Given the description of an element on the screen output the (x, y) to click on. 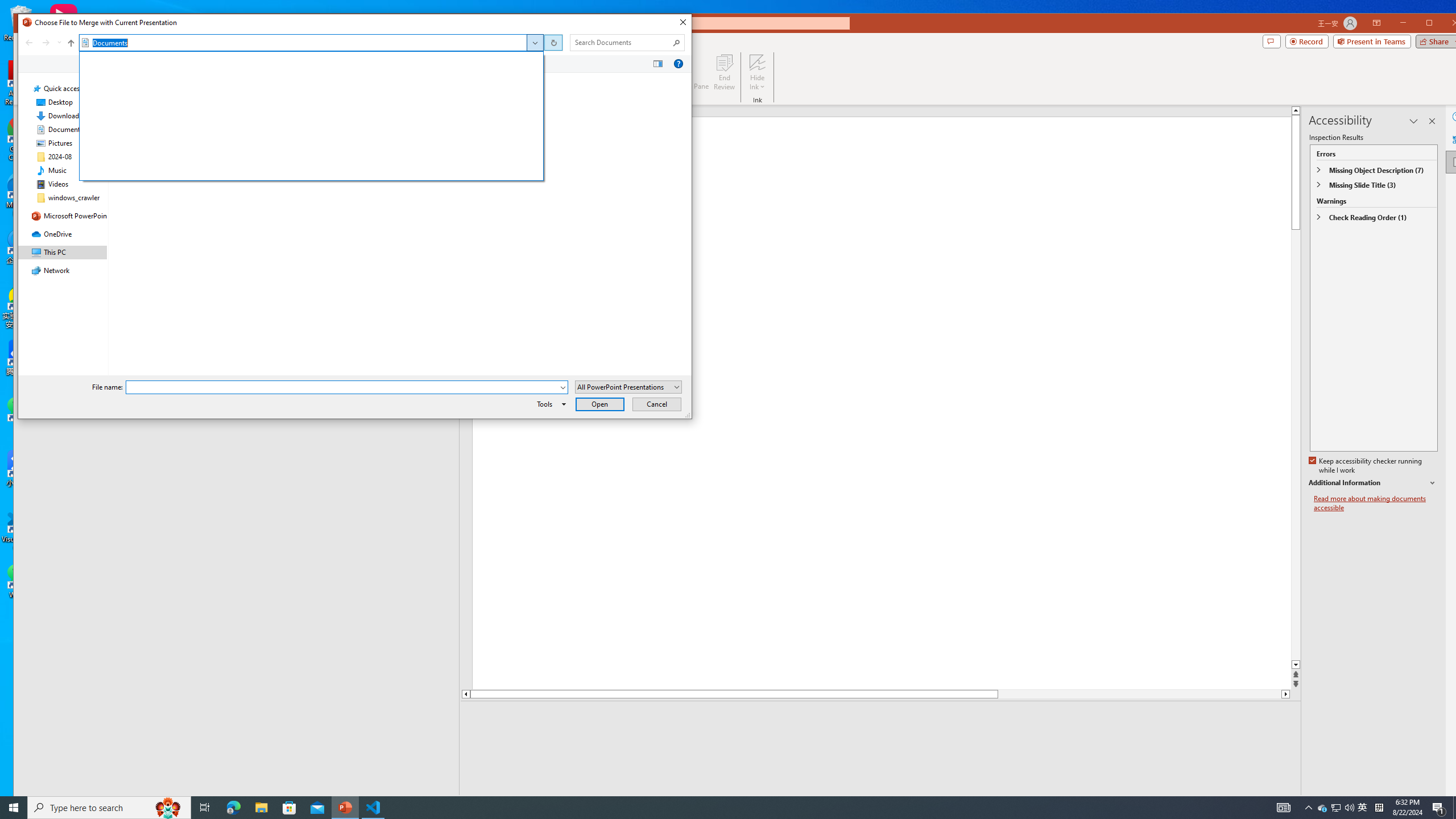
File Explorer (261, 807)
Type (379, 79)
Keep accessibility checker running while I work (1365, 465)
Recent locations (58, 42)
Type (379, 120)
Address (310, 42)
PowerPoint - 1 running window (345, 807)
Search highlights icon opens search home window (167, 807)
&Help (678, 63)
Address band toolbar (552, 42)
